Given the description of an element on the screen output the (x, y) to click on. 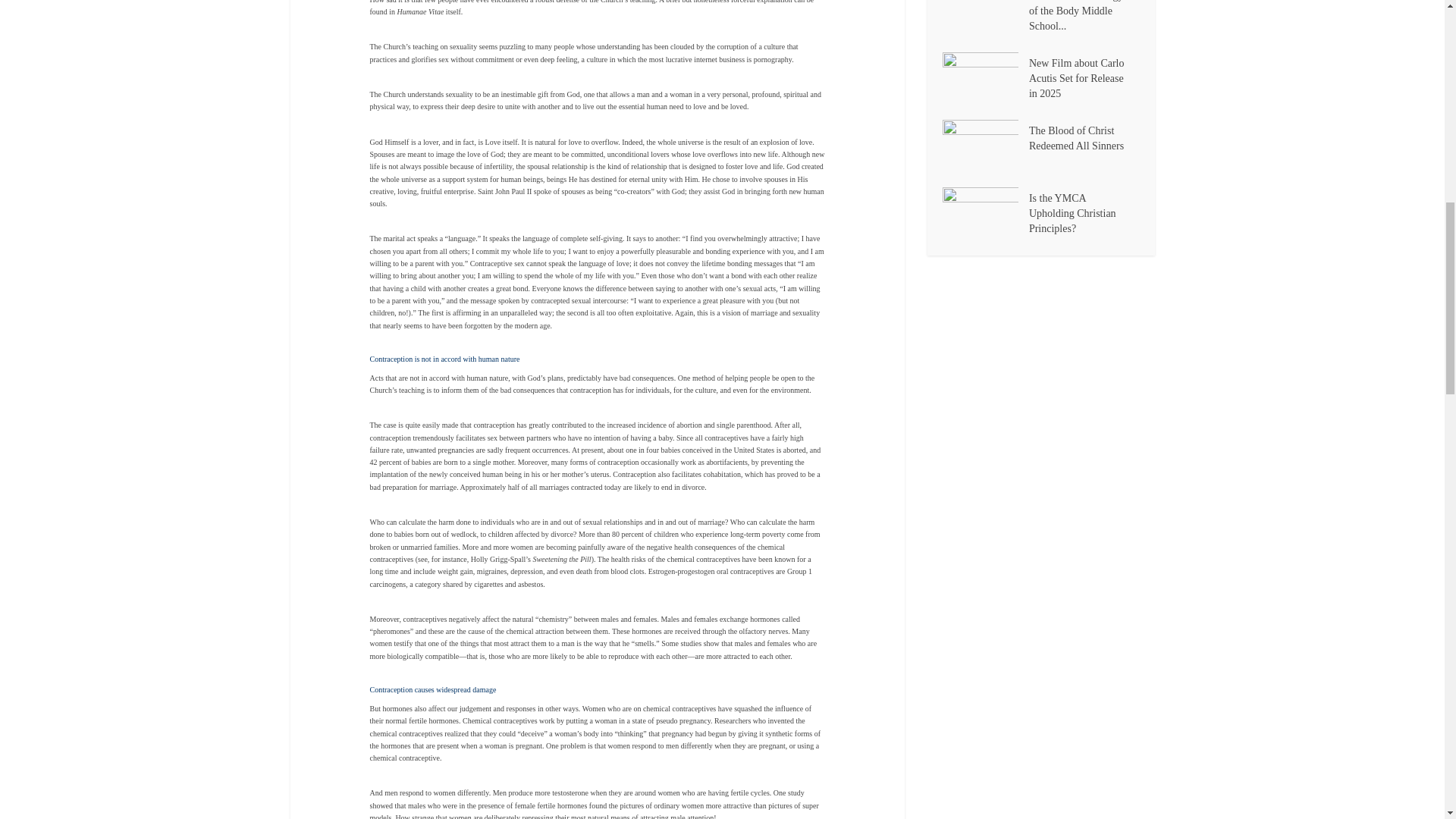
The Blood of Christ Redeemed All Sinners (1084, 136)
Is the YMCA Upholding Christian Principles? (1084, 211)
The Blood of Christ Redeemed All Sinners (984, 145)
Is the YMCA Upholding Christian Principles? (984, 213)
New Film about Carlo Acutis Set for Release in 2025 (1084, 76)
New Film about Carlo Acutis Set for Release in 2025 (984, 78)
